Given the description of an element on the screen output the (x, y) to click on. 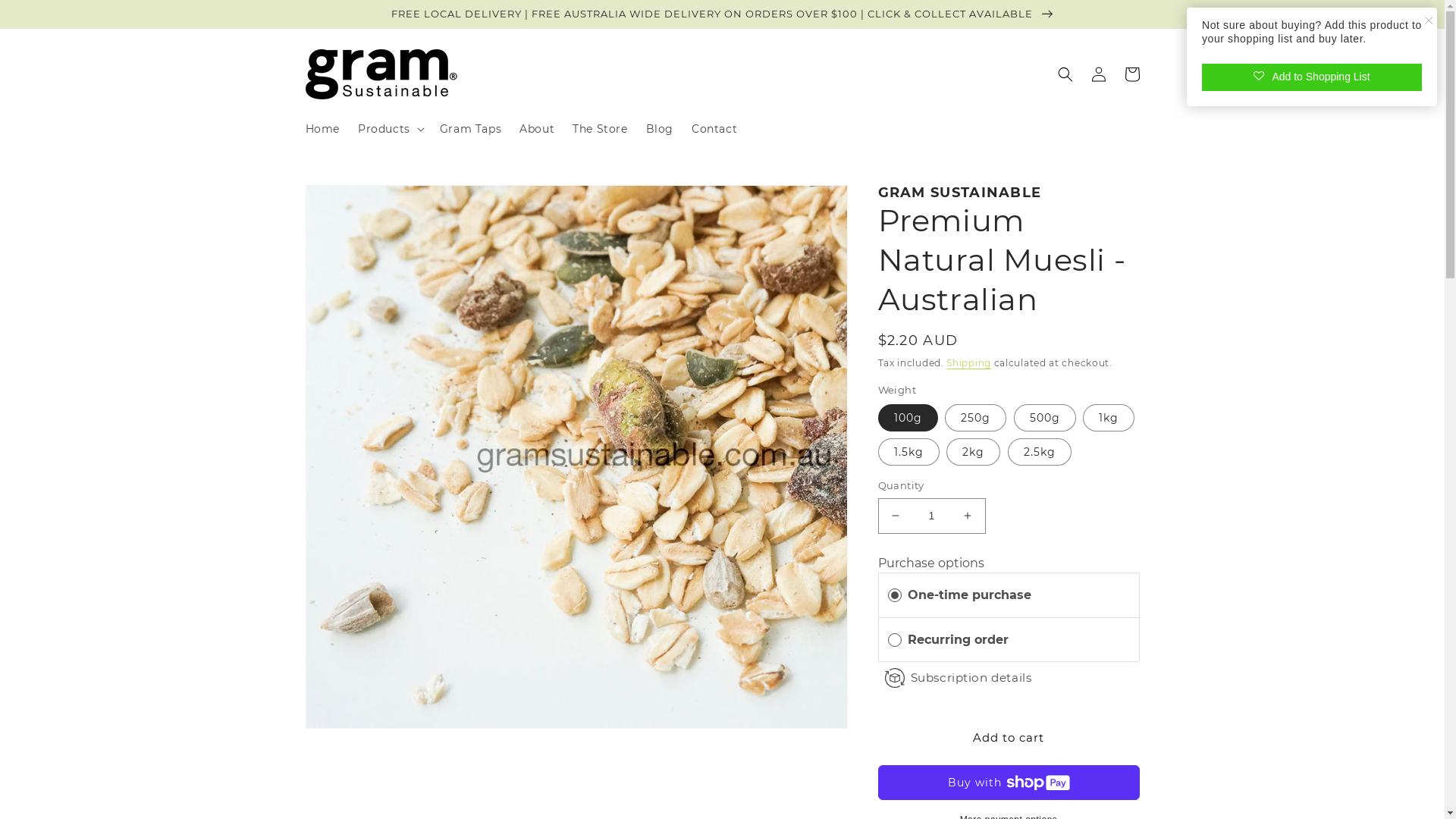
Cart Element type: text (1131, 74)
Add to Shopping List Element type: text (1311, 77)
Contact Element type: text (714, 128)
Subscription details Element type: text (970, 677)
Home Element type: text (321, 128)
About Element type: text (536, 128)
Blog Element type: text (659, 128)
Increase quantity for Premium Natural Muesli - Australian Element type: text (967, 515)
Skip to product information Element type: text (352, 204)
The Store Element type: text (599, 128)
Log in Element type: text (1097, 74)
Decrease quantity for Premium Natural Muesli - Australian Element type: text (895, 515)
Shipping Element type: text (968, 362)
Add to cart Element type: text (1008, 737)
Gram Taps Element type: text (470, 128)
